Given the description of an element on the screen output the (x, y) to click on. 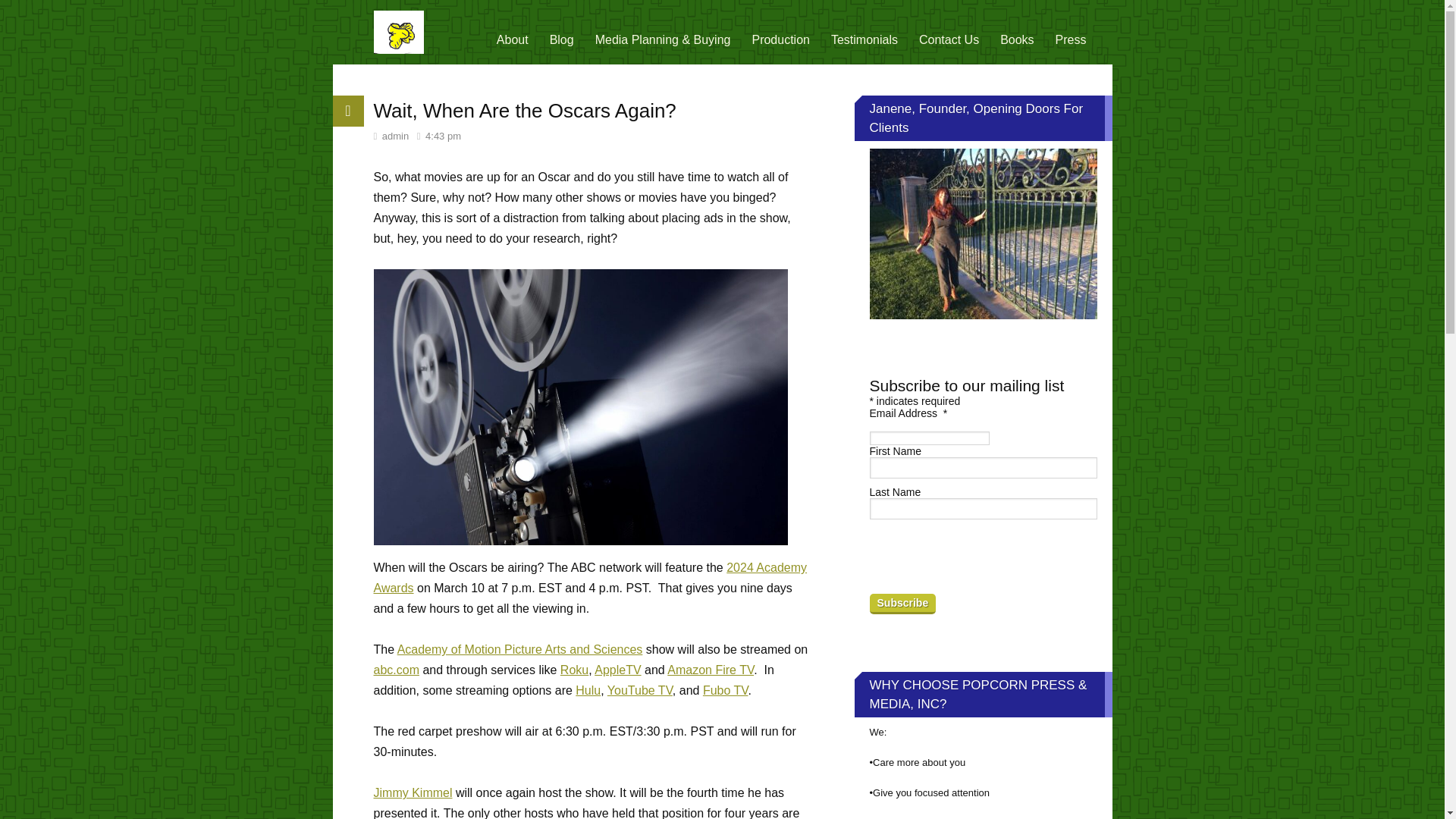
About (512, 39)
Amazon Fire TV (710, 669)
abc.com (395, 669)
Production (781, 39)
Subscribe (902, 603)
Press (1071, 39)
Contact Us (949, 39)
Jimmy Kimmel (411, 792)
Subscribe (902, 603)
2024 Academy Awards (589, 577)
AppleTV (617, 669)
Fubo TV (725, 689)
Janene, Founder, Opening Doors For Clients (982, 233)
YouTube TV (639, 689)
Testimonials (864, 39)
